Given the description of an element on the screen output the (x, y) to click on. 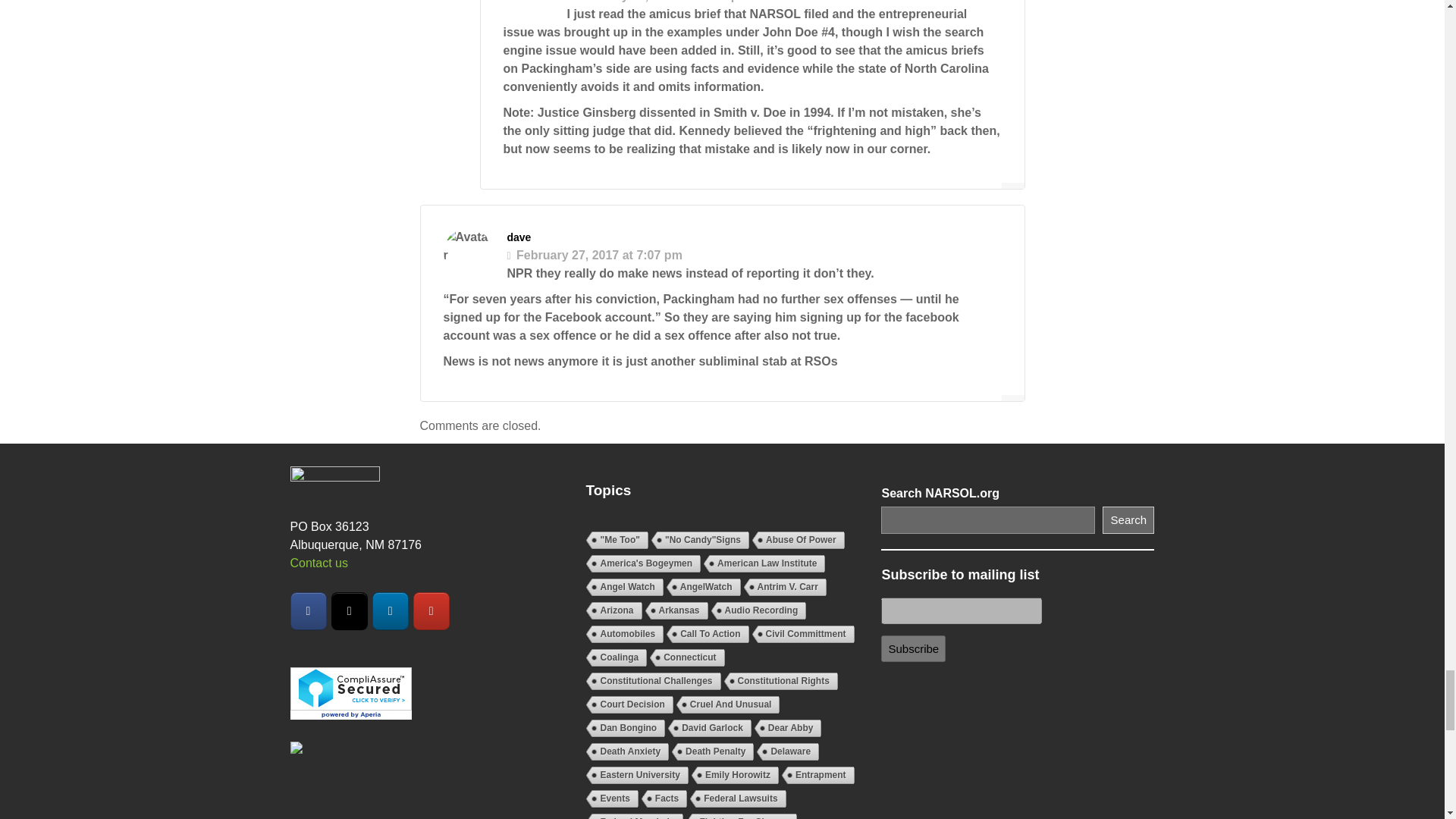
Subscribe (912, 648)
NARSOL on Facebook (307, 610)
NARSOL on Linkedin (390, 610)
NARSOL on X Twitter (349, 610)
NARSOL on Youtube (431, 610)
